Given the description of an element on the screen output the (x, y) to click on. 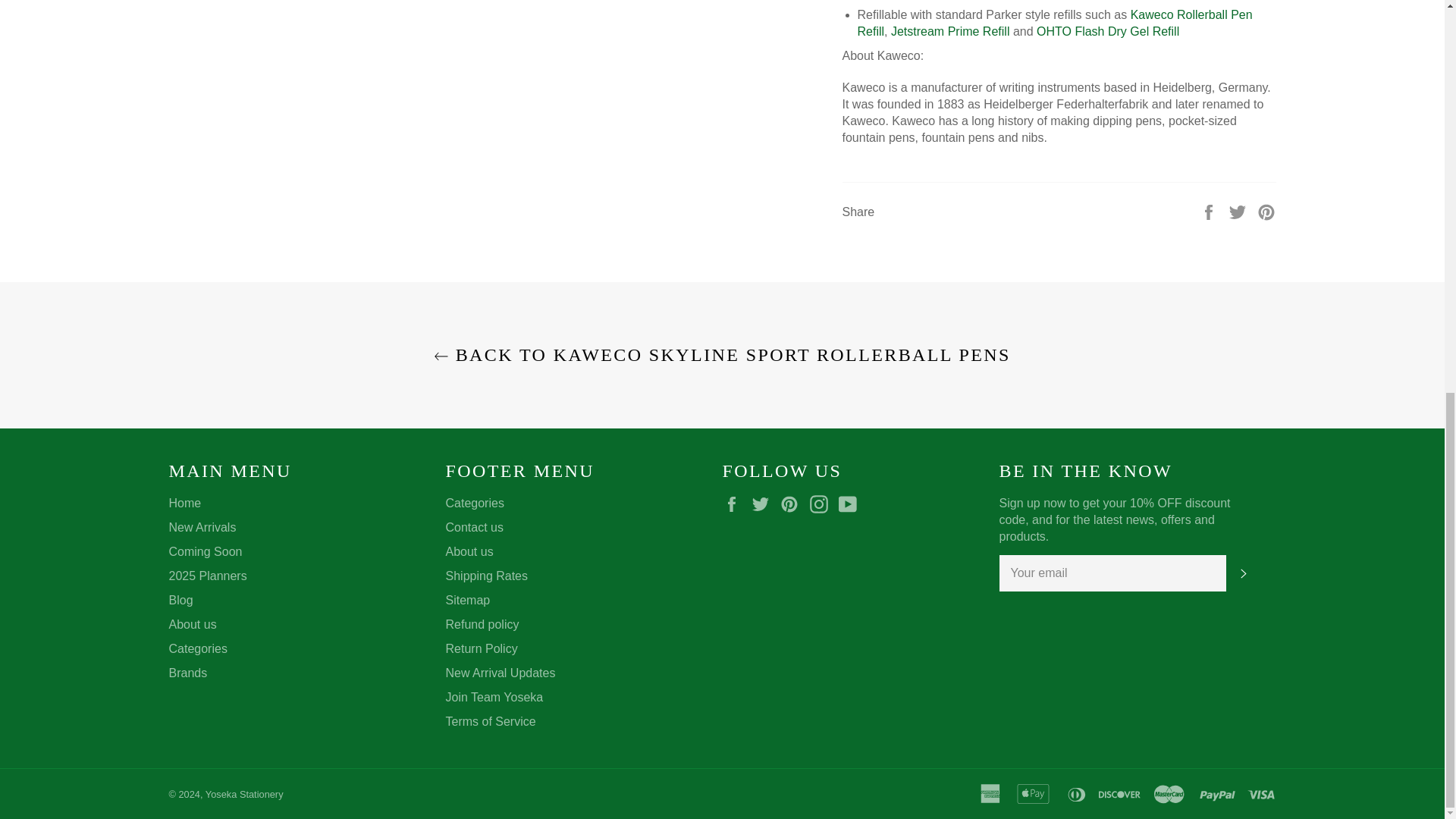
Yoseka Stationery on YouTube (851, 504)
Yoseka Stationery on Facebook (735, 504)
Pin on Pinterest (1266, 210)
Yoseka Stationery on Pinterest (793, 504)
Yoseka Stationery on Instagram (822, 504)
Share on Facebook (1210, 210)
Yoseka Stationery on Twitter (764, 504)
Tweet on Twitter (1238, 210)
